Given the description of an element on the screen output the (x, y) to click on. 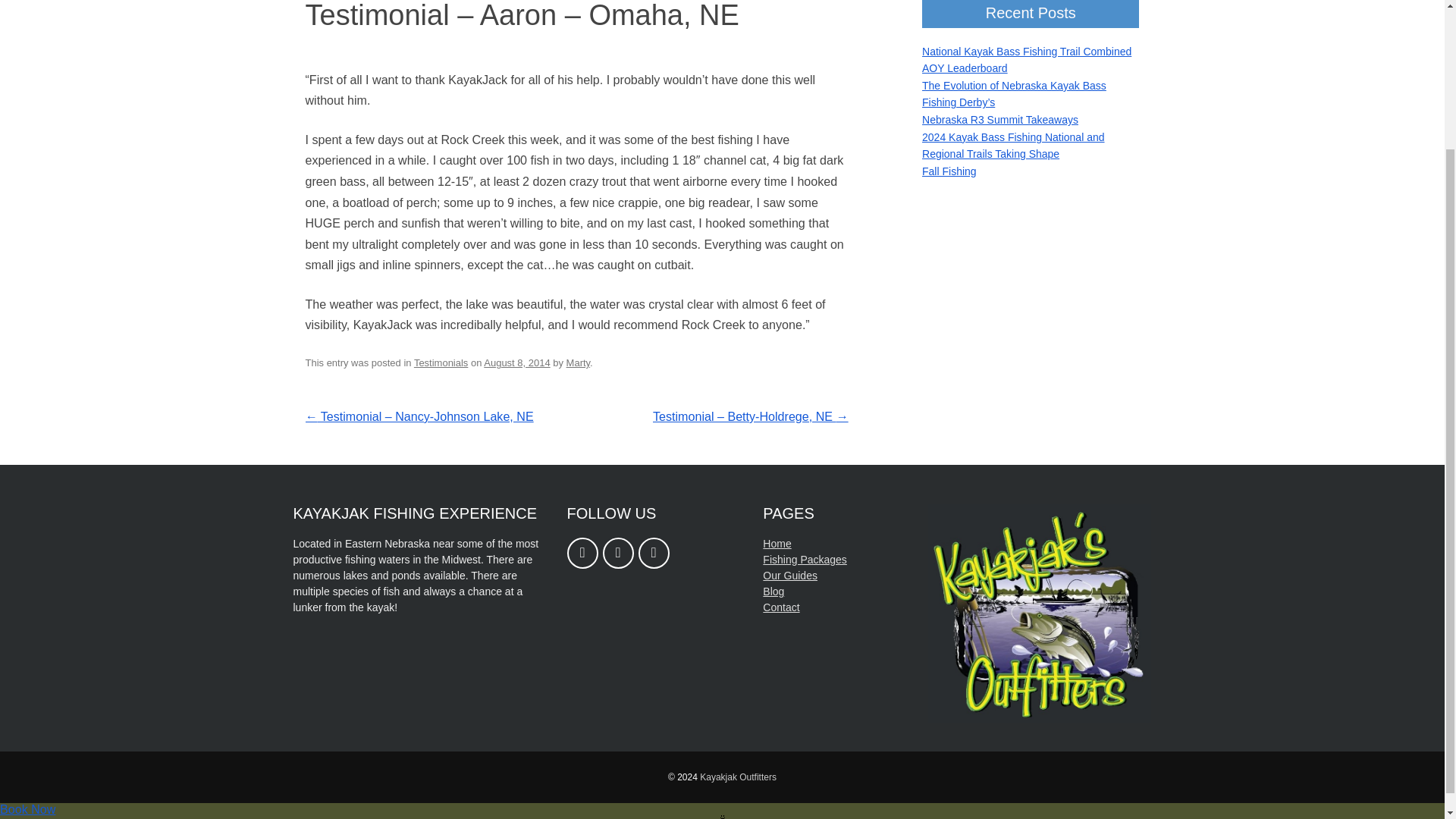
Facebook (582, 552)
Testimonials (440, 362)
Email (617, 552)
Kayakjak Outfitters (738, 777)
4:42 pm (516, 362)
Twitter (654, 552)
View all posts by Marty (578, 362)
August 8, 2014 (516, 362)
